Given the description of an element on the screen output the (x, y) to click on. 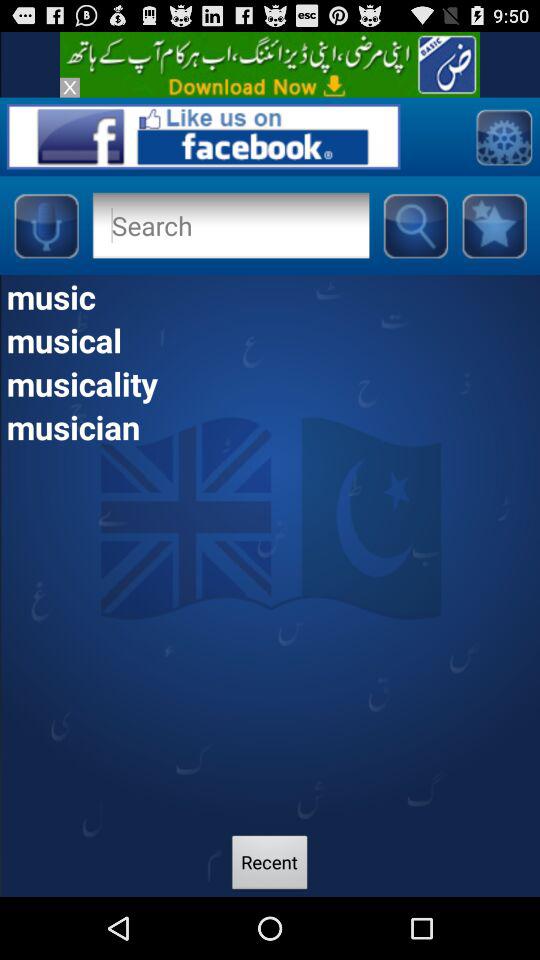
click the settings button on the web page (503, 136)
click on mic button left to search bar (45, 225)
click on the pop up which is at the top (269, 63)
click on the facebook tab at the top of the page (204, 135)
click on the star button at the top right of the page (494, 225)
